Given the description of an element on the screen output the (x, y) to click on. 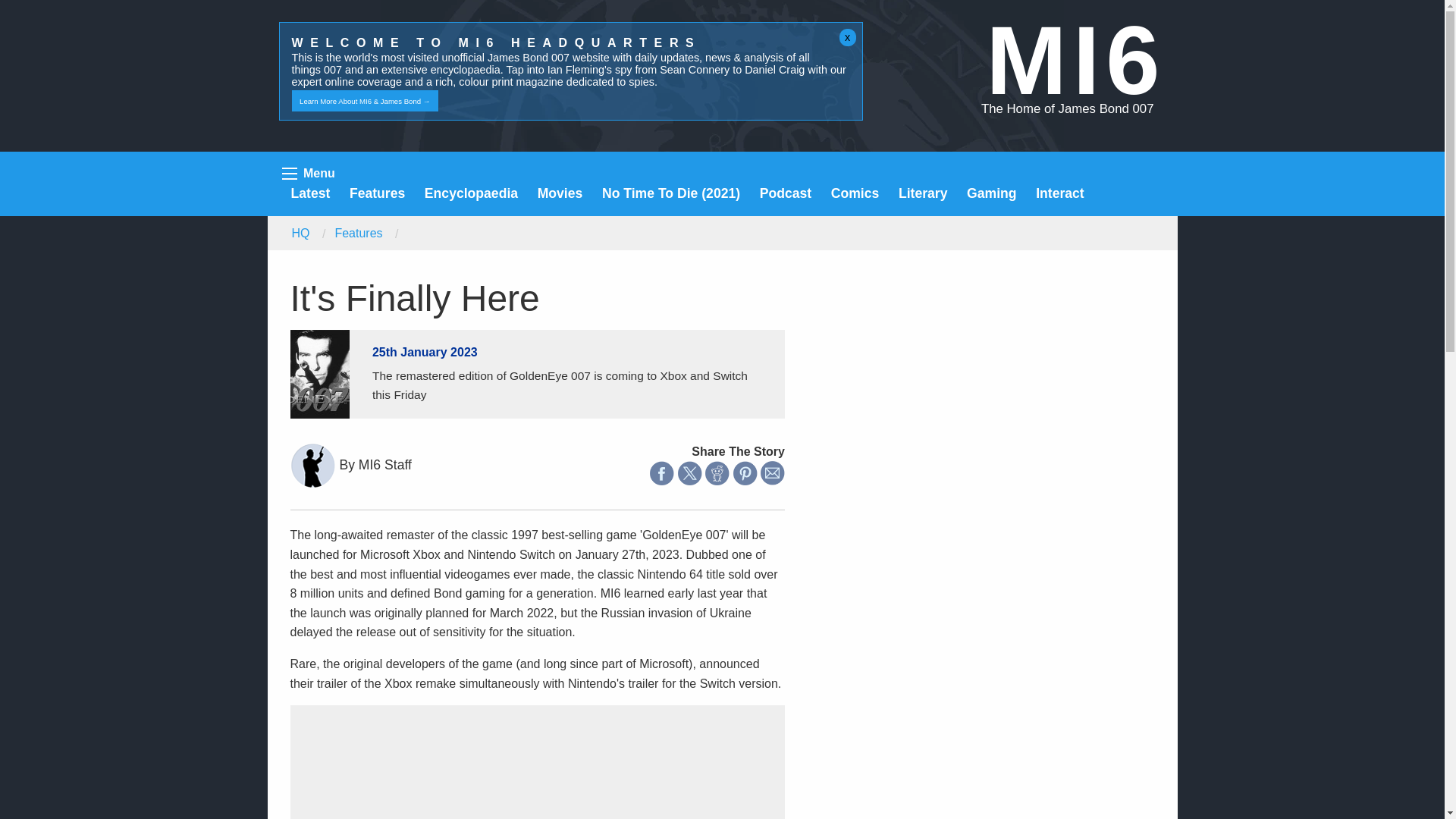
Comics (855, 192)
Podcast (785, 192)
Literary (922, 192)
MI6 (1075, 59)
Interact (1059, 192)
x (848, 37)
The Home of James Bond 007 (1067, 108)
Gaming (991, 192)
Movies (560, 192)
Features (376, 192)
